Given the description of an element on the screen output the (x, y) to click on. 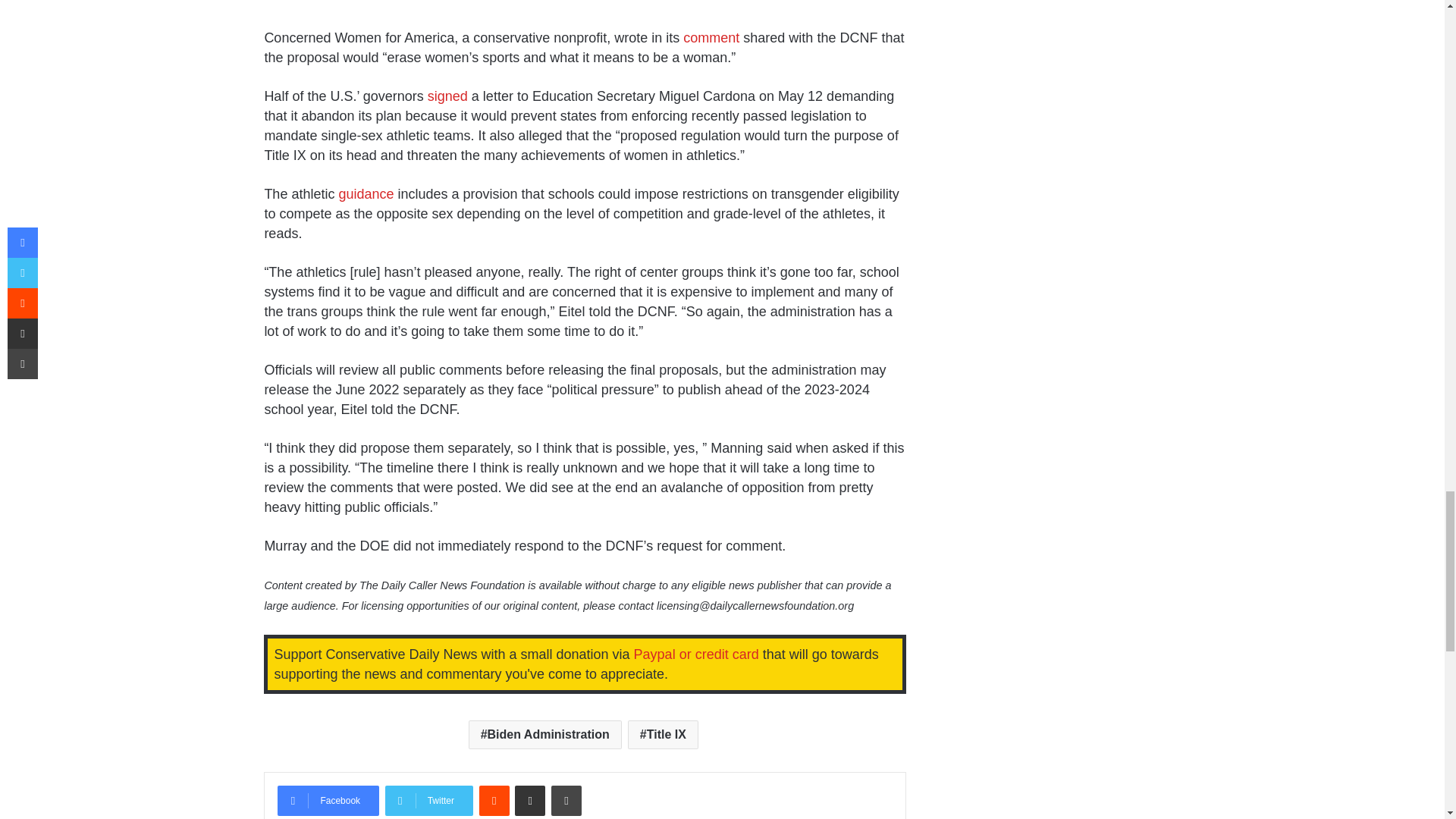
Twitter (429, 800)
Reddit (494, 800)
Facebook (328, 800)
Print (565, 800)
Share via Email (529, 800)
